Given the description of an element on the screen output the (x, y) to click on. 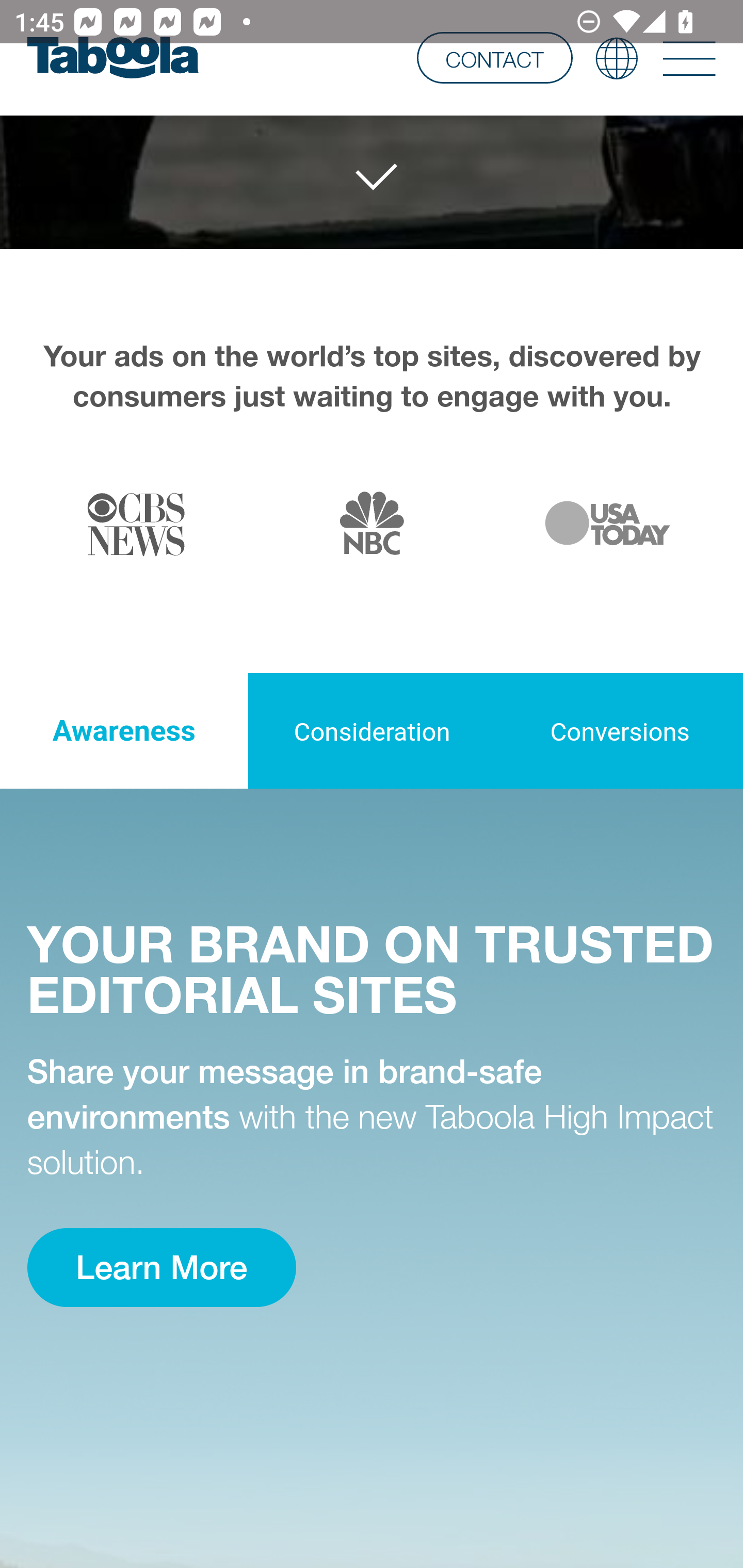
CONTACT (494, 56)
www.taboola (112, 57)
advertise#slider (372, 177)
Learn More (161, 1268)
